Given the description of an element on the screen output the (x, y) to click on. 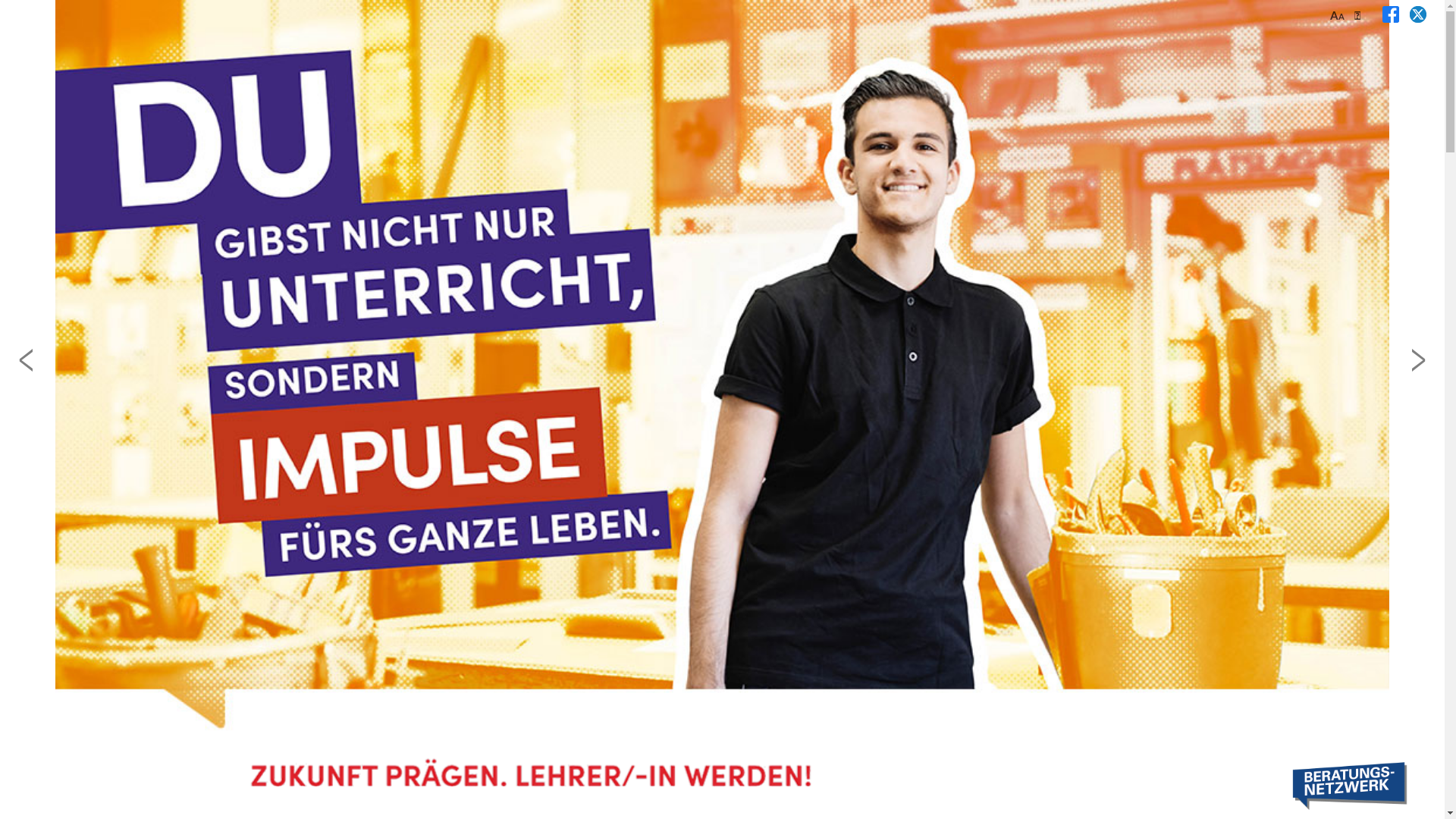
Auf sozialen Medien teilen Element type: hover (1408, 14)
  Element type: text (1408, 14)
Aa Element type: text (1342, 14)
